Given the description of an element on the screen output the (x, y) to click on. 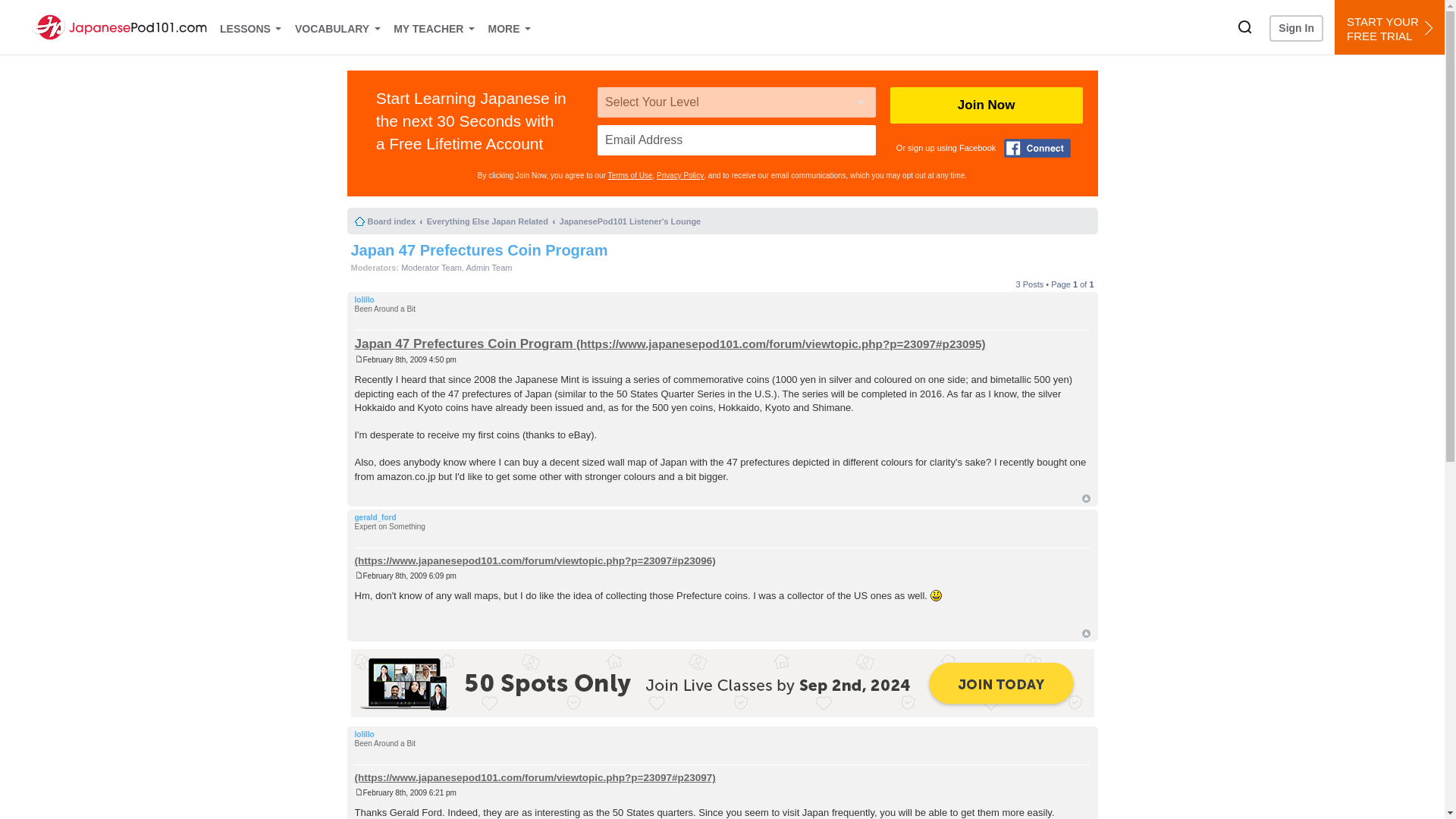
Everything Else Japan Related (487, 221)
Post (358, 574)
LESSONS (249, 27)
VOCABULARY (335, 27)
Post (358, 358)
MORE (507, 27)
Board index (385, 221)
Post (358, 791)
JapanesePod101 Listener's Lounge (630, 221)
Smile (936, 595)
